Given the description of an element on the screen output the (x, y) to click on. 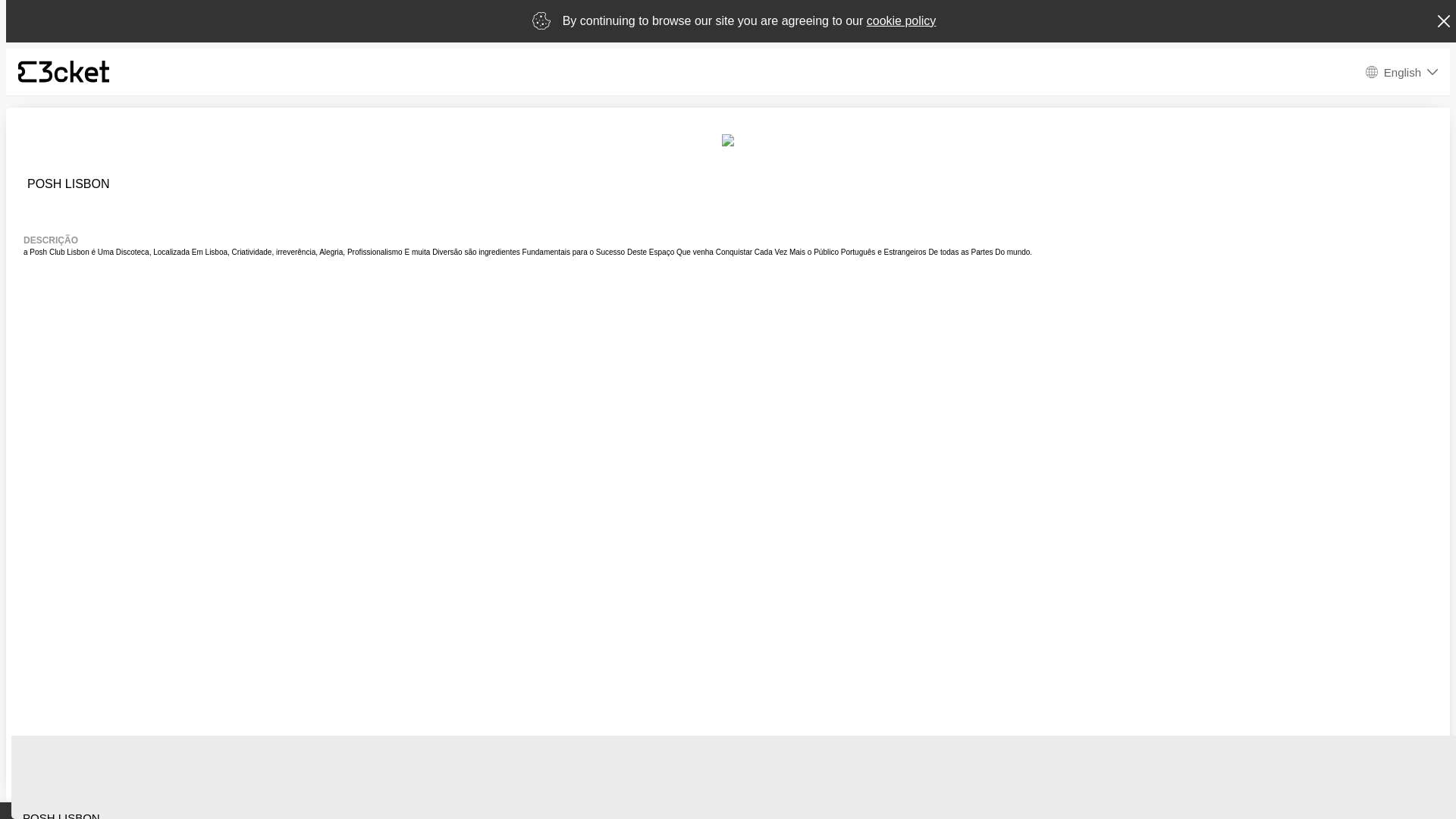
cookie policy Element type: text (901, 20)
